Given the description of an element on the screen output the (x, y) to click on. 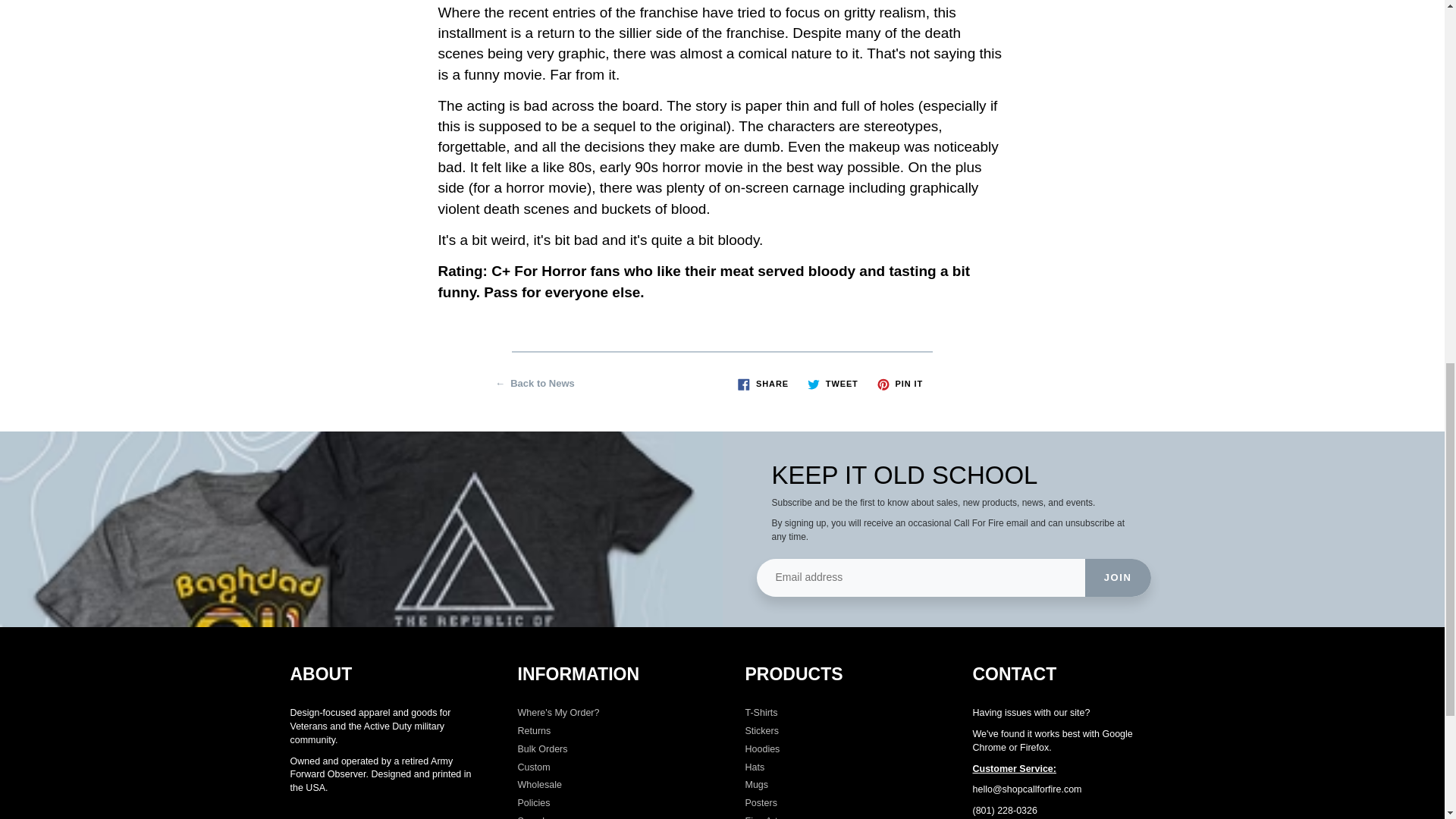
Tweet on Twitter (833, 384)
Pin on Pinterest (899, 384)
Share on Facebook (763, 384)
